Given the description of an element on the screen output the (x, y) to click on. 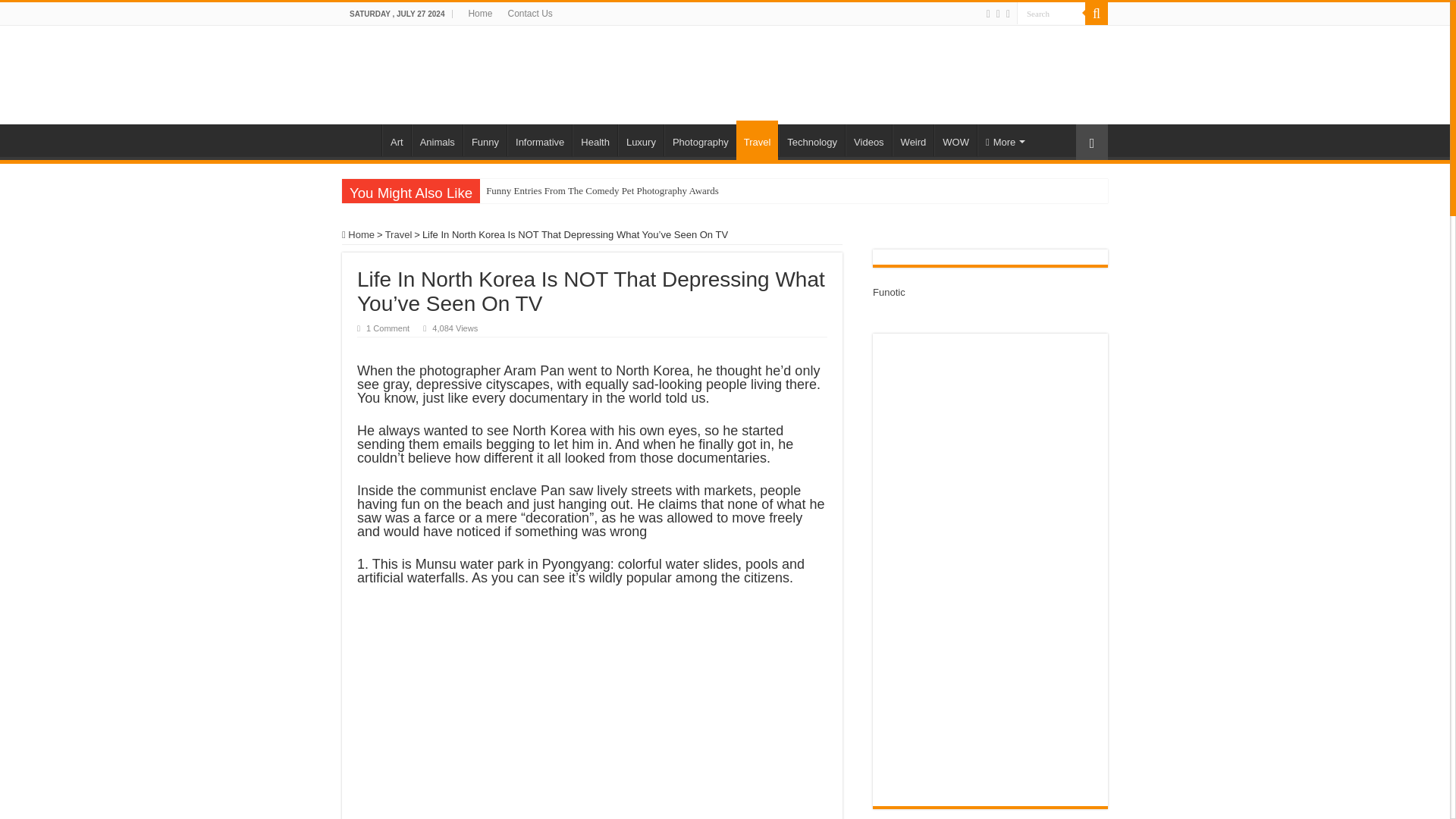
Search (1096, 13)
Photography (699, 140)
Home (479, 13)
Luxury (640, 140)
Search (1050, 13)
Search (1050, 13)
Videos (868, 140)
Travel (757, 139)
Contact Us (529, 13)
Funny Entries From The Comedy Pet Photography Awards (612, 191)
Animals (437, 140)
Technology (811, 140)
Weird (913, 140)
Informative (539, 140)
Random Article (1091, 141)
